Given the description of an element on the screen output the (x, y) to click on. 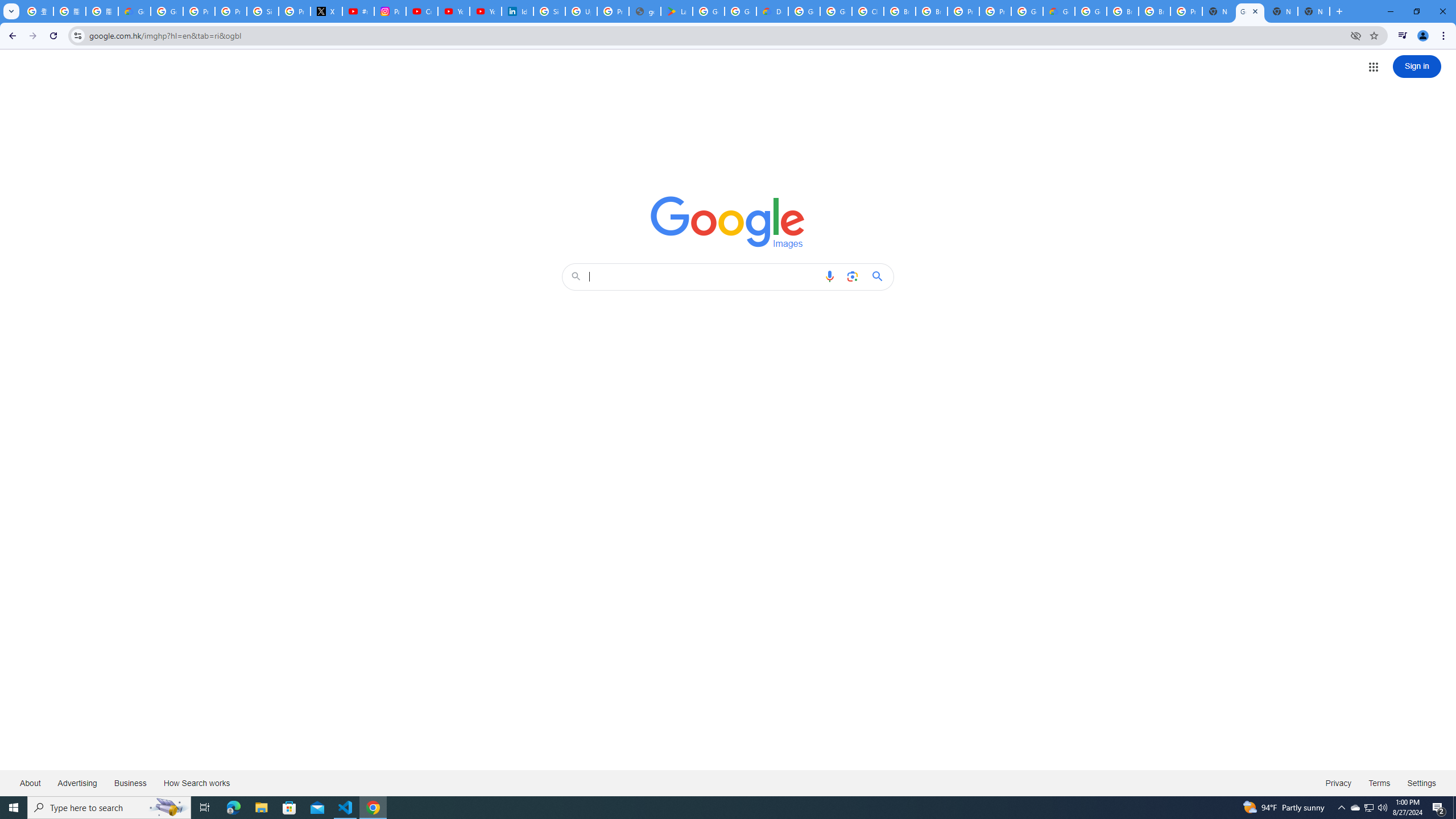
Last Shelter: Survival - Apps on Google Play (676, 11)
Sign in - Google Accounts (549, 11)
Sign in - Google Accounts (262, 11)
